Given the description of an element on the screen output the (x, y) to click on. 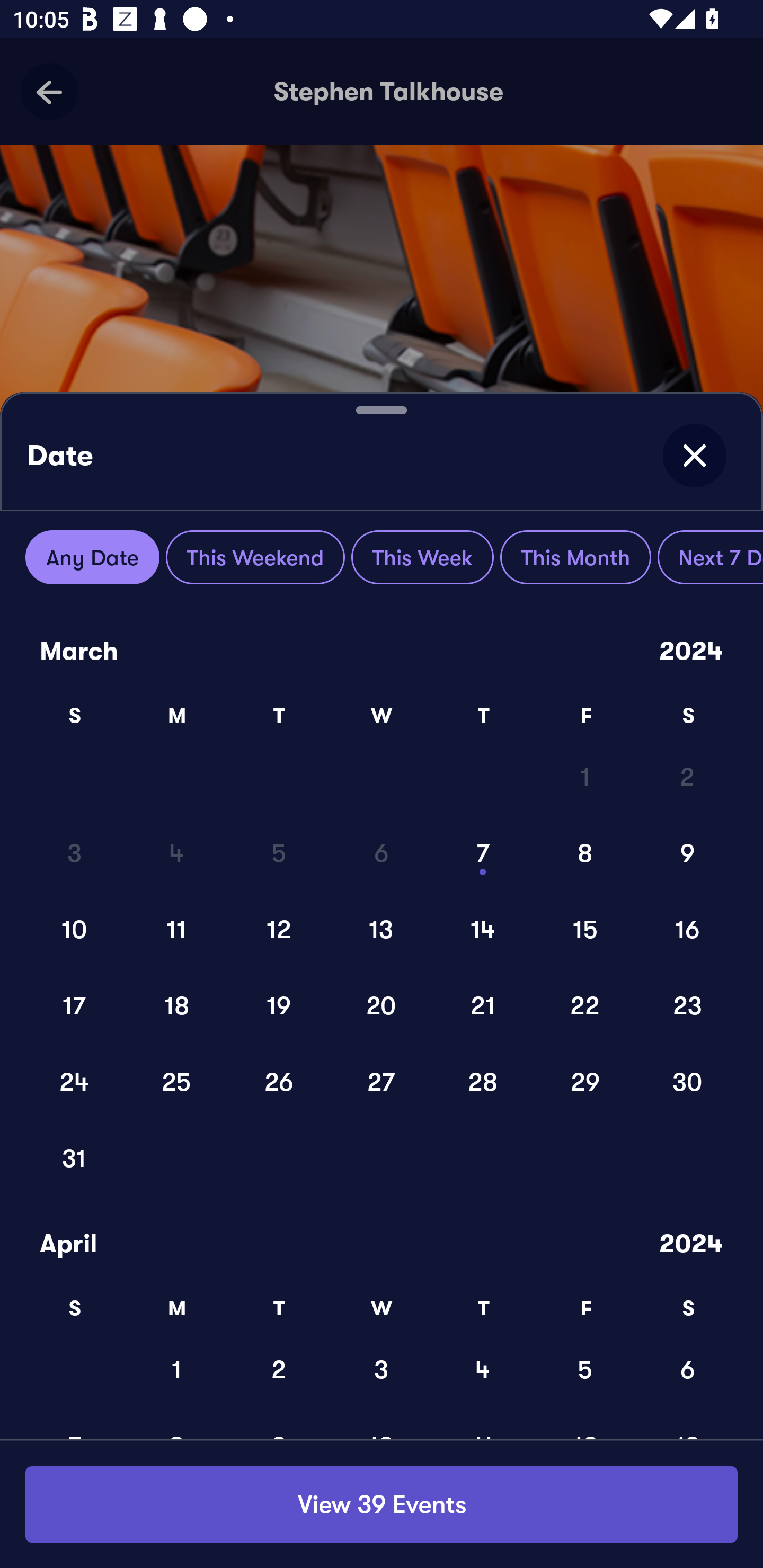
close (694, 455)
Any Date (91, 557)
This Weekend (255, 557)
This Week (422, 557)
This Month (575, 557)
Next 7 Days (711, 557)
 Friday 1 March 2024  1 (585, 775)
 Saturday 2 March 2024  2 (687, 775)
 Sunday 3 March 2024  3 (74, 852)
 Monday 4 March 2024  4 (177, 852)
 Tuesday 5 March 2024  5 (279, 852)
 Wednesday 6 March 2024  6 (381, 852)
 Friday 8 March 2024  8 (585, 852)
 Saturday 9 March 2024  9 (687, 852)
 Sunday 10 March 2024  10 (74, 928)
 Monday 11 March 2024  11 (177, 928)
 Tuesday 12 March 2024  12 (279, 928)
 Wednesday 13 March 2024  13 (381, 928)
 Thursday 14 March 2024  14 (482, 928)
 Friday 15 March 2024  15 (585, 928)
 Saturday 16 March 2024  16 (687, 928)
 Sunday 17 March 2024  17 (74, 1004)
 Monday 18 March 2024  18 (177, 1004)
 Tuesday 19 March 2024  19 (279, 1004)
 Wednesday 20 March 2024  20 (381, 1004)
 Thursday 21 March 2024  21 (482, 1004)
 Friday 22 March 2024  22 (585, 1004)
 Saturday 23 March 2024  23 (687, 1004)
 Sunday 24 March 2024  24 (74, 1081)
 Monday 25 March 2024  25 (177, 1081)
 Tuesday 26 March 2024  26 (279, 1081)
 Wednesday 27 March 2024  27 (381, 1081)
 Thursday 28 March 2024  28 (482, 1081)
 Friday 29 March 2024  29 (585, 1081)
 Saturday 30 March 2024  30 (687, 1081)
 Sunday 31 March 2024  31 (74, 1157)
 Monday 1 April 2024  1 (177, 1369)
 Tuesday 2 April 2024  2 (279, 1369)
 Wednesday 3 April 2024  3 (381, 1369)
 Thursday 4 April 2024  4 (482, 1369)
 Friday 5 April 2024  5 (585, 1369)
 Saturday 6 April 2024  6 (687, 1369)
